Given the description of an element on the screen output the (x, y) to click on. 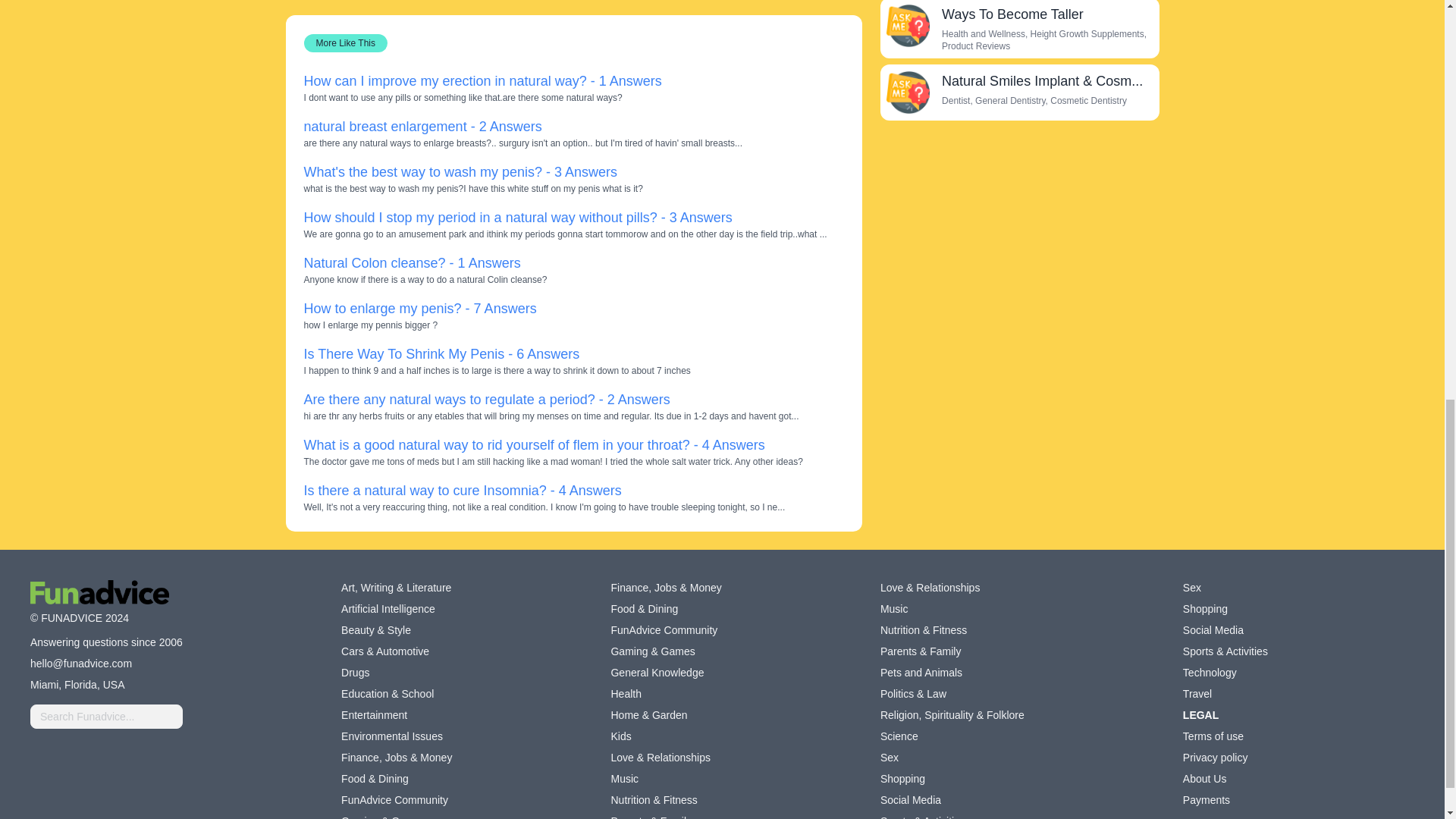
Artificial Intelligence (387, 608)
natural breast enlargement - 2 Answers (421, 126)
What's the best way to wash my penis? - 3 Answers (459, 171)
Is There Way To Shrink My Penis - 6 Answers (440, 353)
Environmental Issues (391, 735)
How to enlarge my penis? - 7 Answers (418, 308)
Is there a natural way to cure Insomnia? - 4 Answers (461, 490)
Ways To Become Taller (907, 25)
Are there any natural ways to regulate a period? - 2 Answers (485, 399)
Drugs (354, 672)
Ways To Become Taller (1012, 14)
Natural Colon cleanse? - 1 Answers (410, 263)
Entertainment (373, 714)
How can I improve my erection in natural way? - 1 Answers (481, 80)
